Given the description of an element on the screen output the (x, y) to click on. 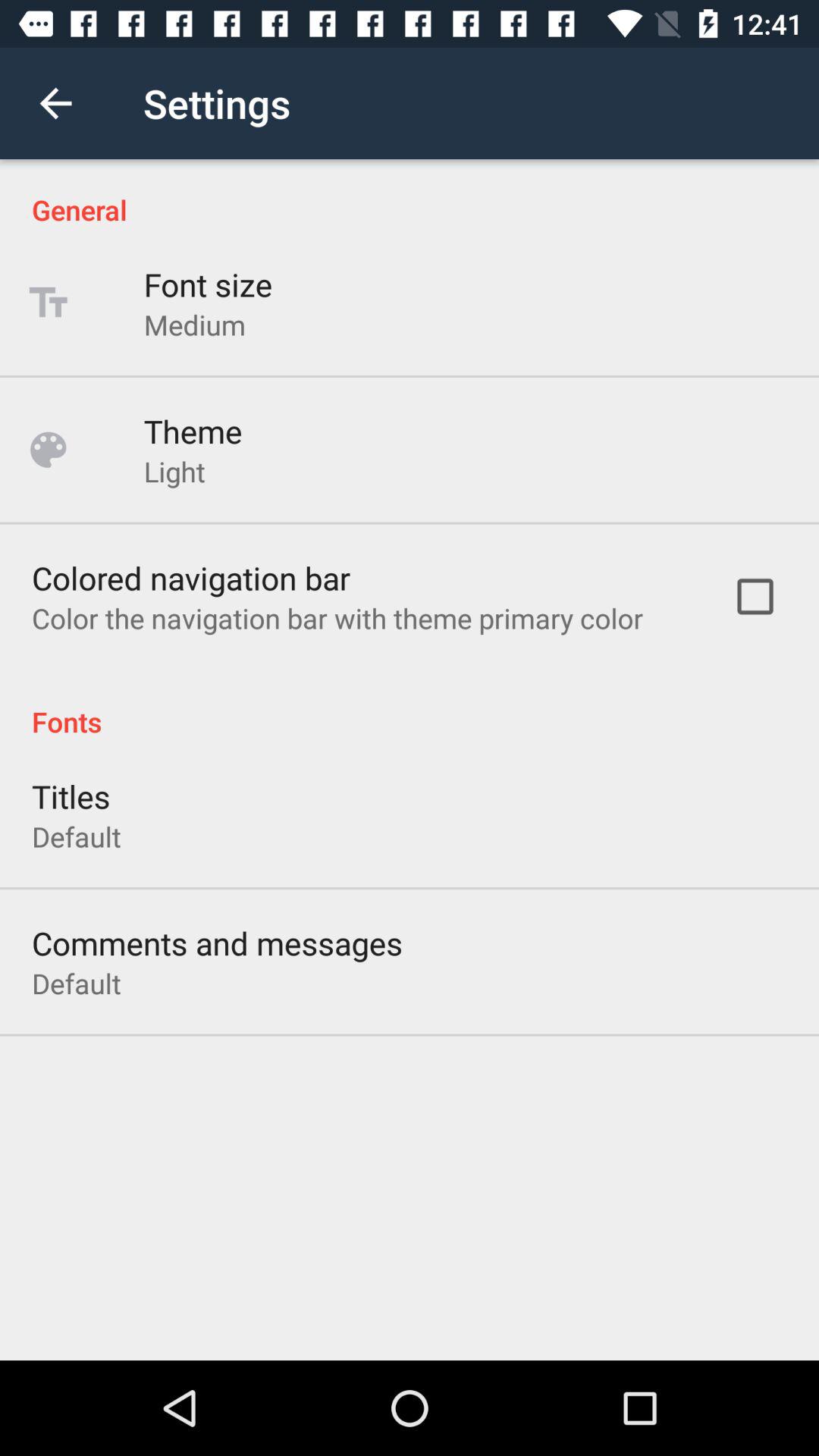
tap general icon (409, 193)
